Given the description of an element on the screen output the (x, y) to click on. 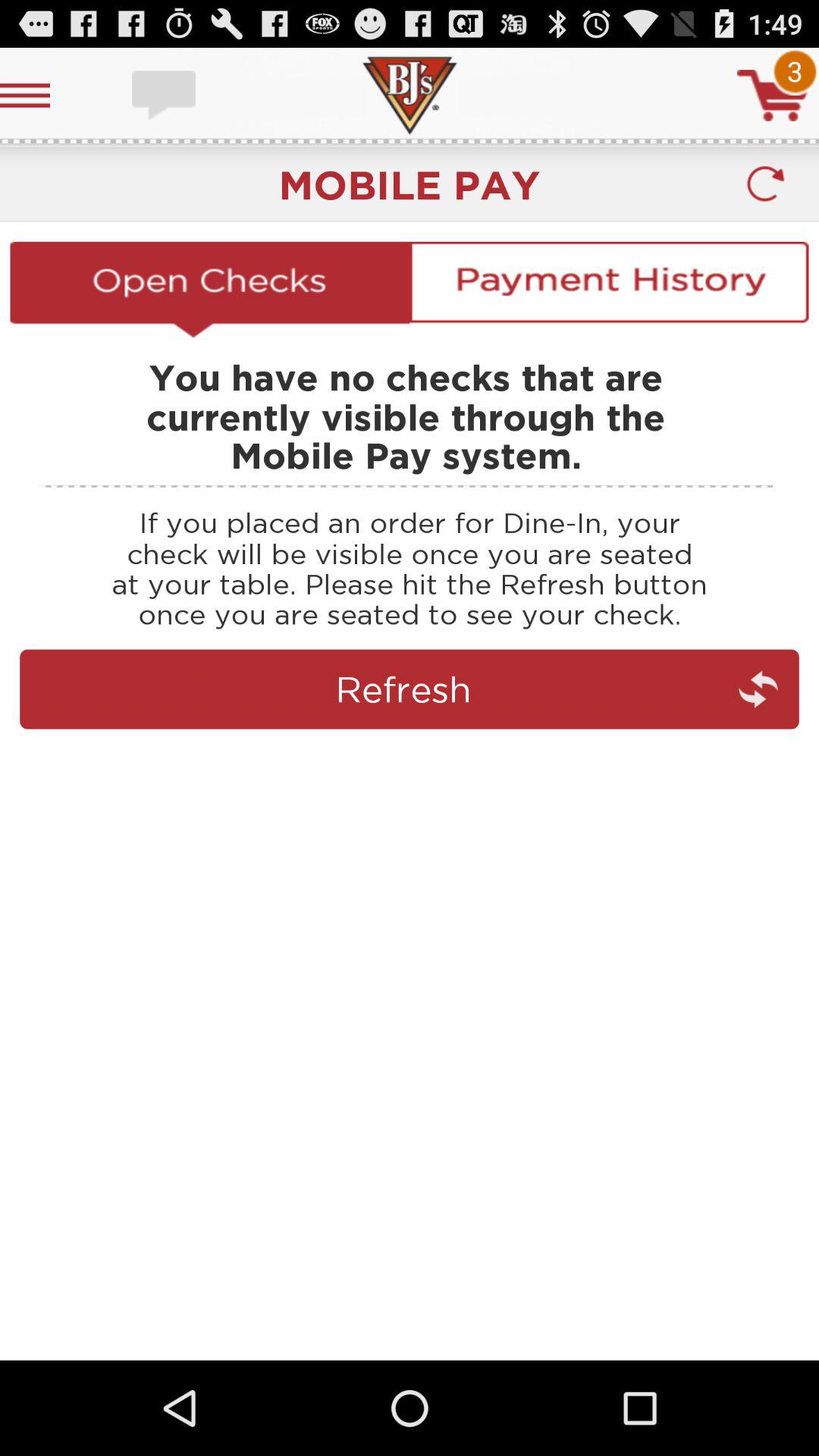
reload (765, 184)
